Given the description of an element on the screen output the (x, y) to click on. 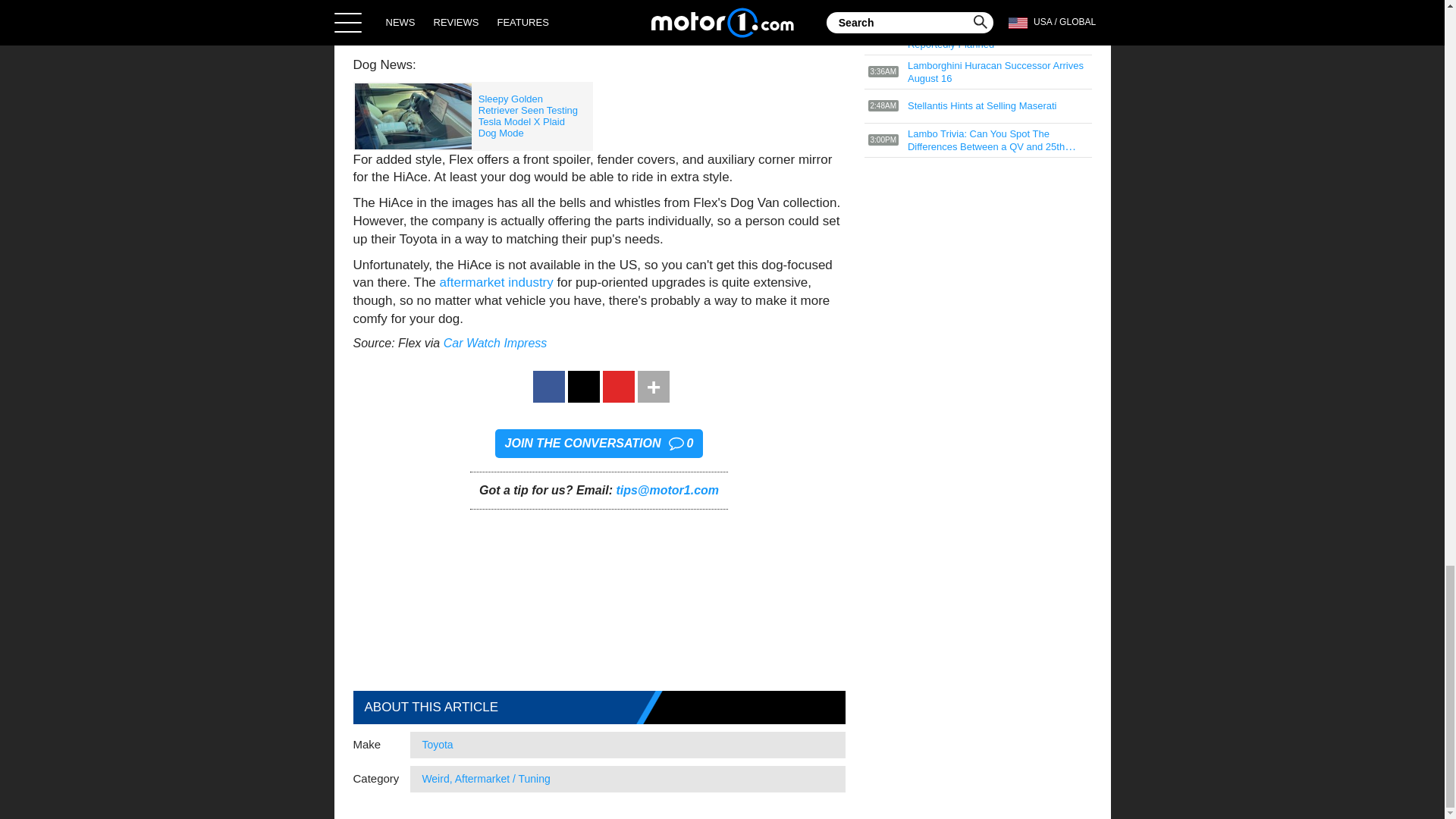
Car Watch Impress (495, 342)
aftermarket industry (496, 282)
